Given the description of an element on the screen output the (x, y) to click on. 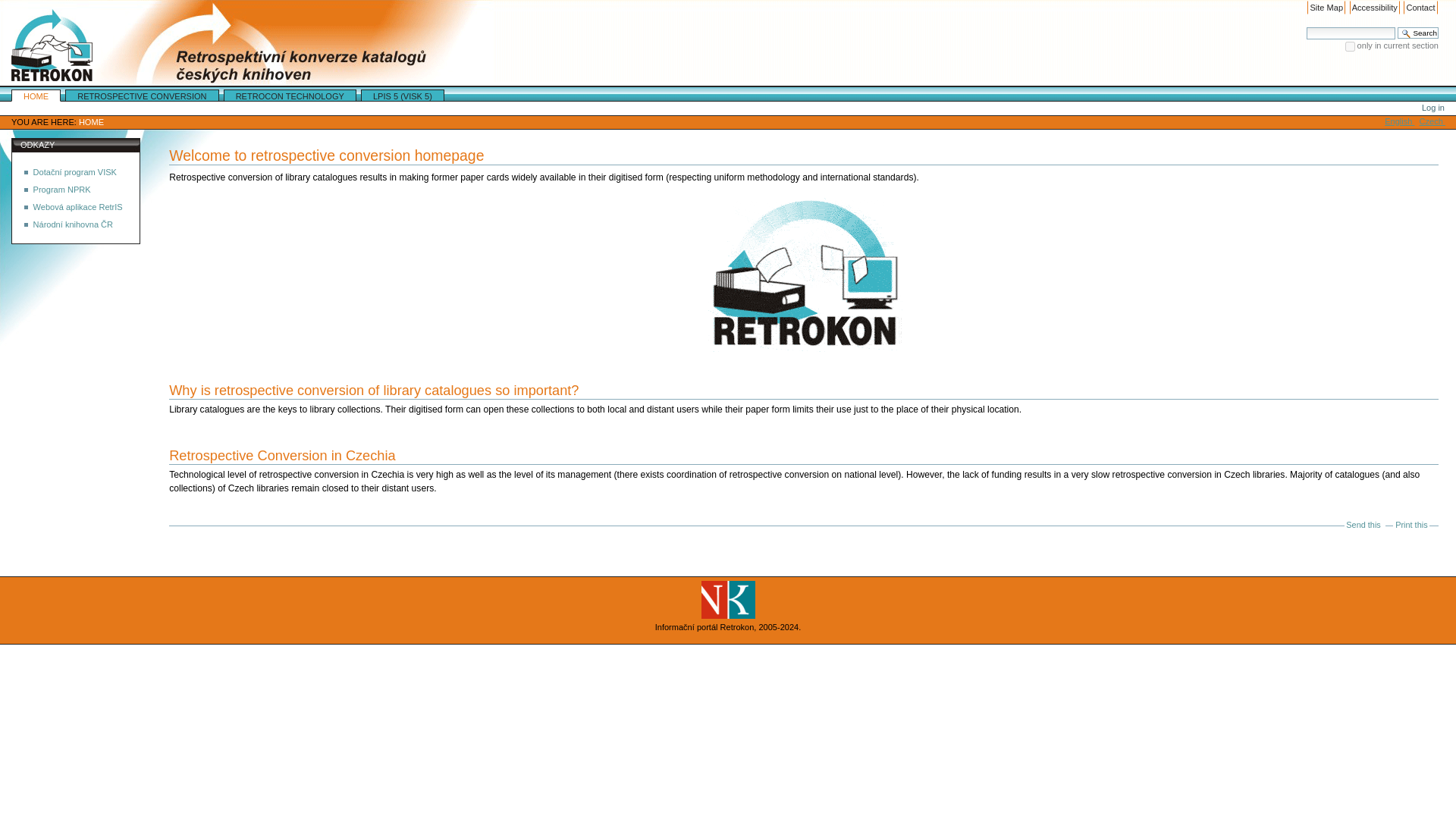
Search (1417, 32)
RETROCON Technology and its Origin (290, 95)
Program NPRK (61, 189)
Czech (1432, 121)
HOME (90, 121)
logo.gif (247, 42)
Site Map (1326, 7)
Accessibility (1374, 7)
Send this (1362, 524)
Contact (1420, 7)
